Given the description of an element on the screen output the (x, y) to click on. 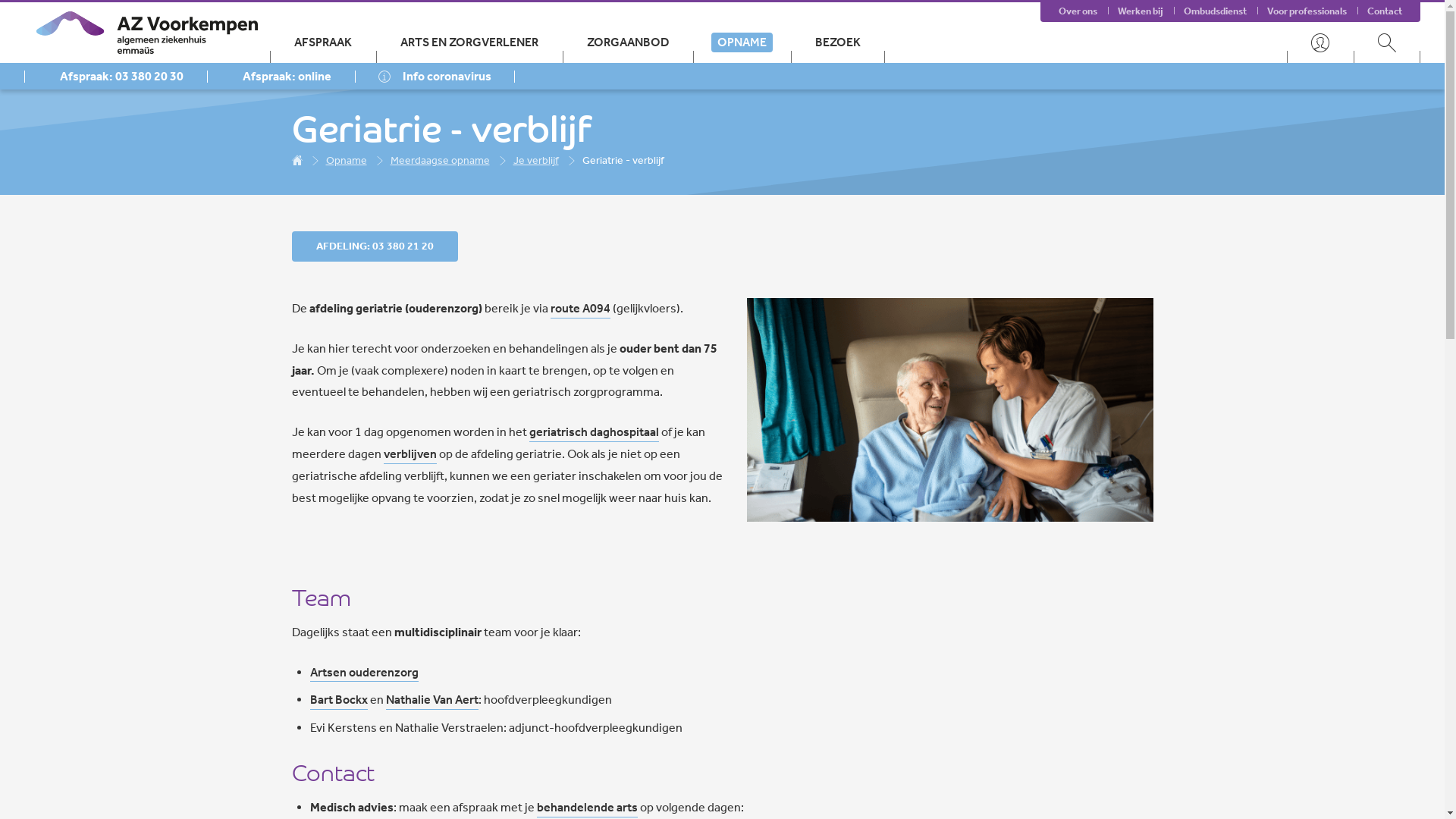
Search menu Element type: text (1386, 41)
Afspraak: 03 380 20 30 Element type: text (115, 75)
Home Element type: text (297, 159)
User menu Element type: text (1319, 41)
Info coronavirus Element type: text (434, 75)
Werken bij Element type: text (1140, 10)
Meerdaagse opname Element type: text (439, 159)
OPNAME Element type: text (741, 41)
Bart Bockx Element type: text (338, 700)
AFDELING: 03 380 21 20 Element type: text (374, 246)
Afspraak: online Element type: text (280, 75)
BEZOEK Element type: text (837, 41)
ZORGAANBOD Element type: text (627, 41)
geriatrisch daghospitaal Element type: text (593, 432)
Nathalie Van Aert Element type: text (431, 700)
Contact Element type: text (1384, 10)
verblijven Element type: text (409, 454)
Ombudsdienst Element type: text (1214, 10)
Artsen ouderenzorg Element type: text (363, 673)
route A094 Element type: text (580, 309)
Over ons Element type: text (1077, 10)
ARTS EN ZORGVERLENER Element type: text (469, 41)
AFSPRAAK Element type: text (322, 41)
Voor professionals Element type: text (1306, 10)
Opname Element type: text (346, 159)
Je verblijf Element type: text (535, 159)
